Given the description of an element on the screen output the (x, y) to click on. 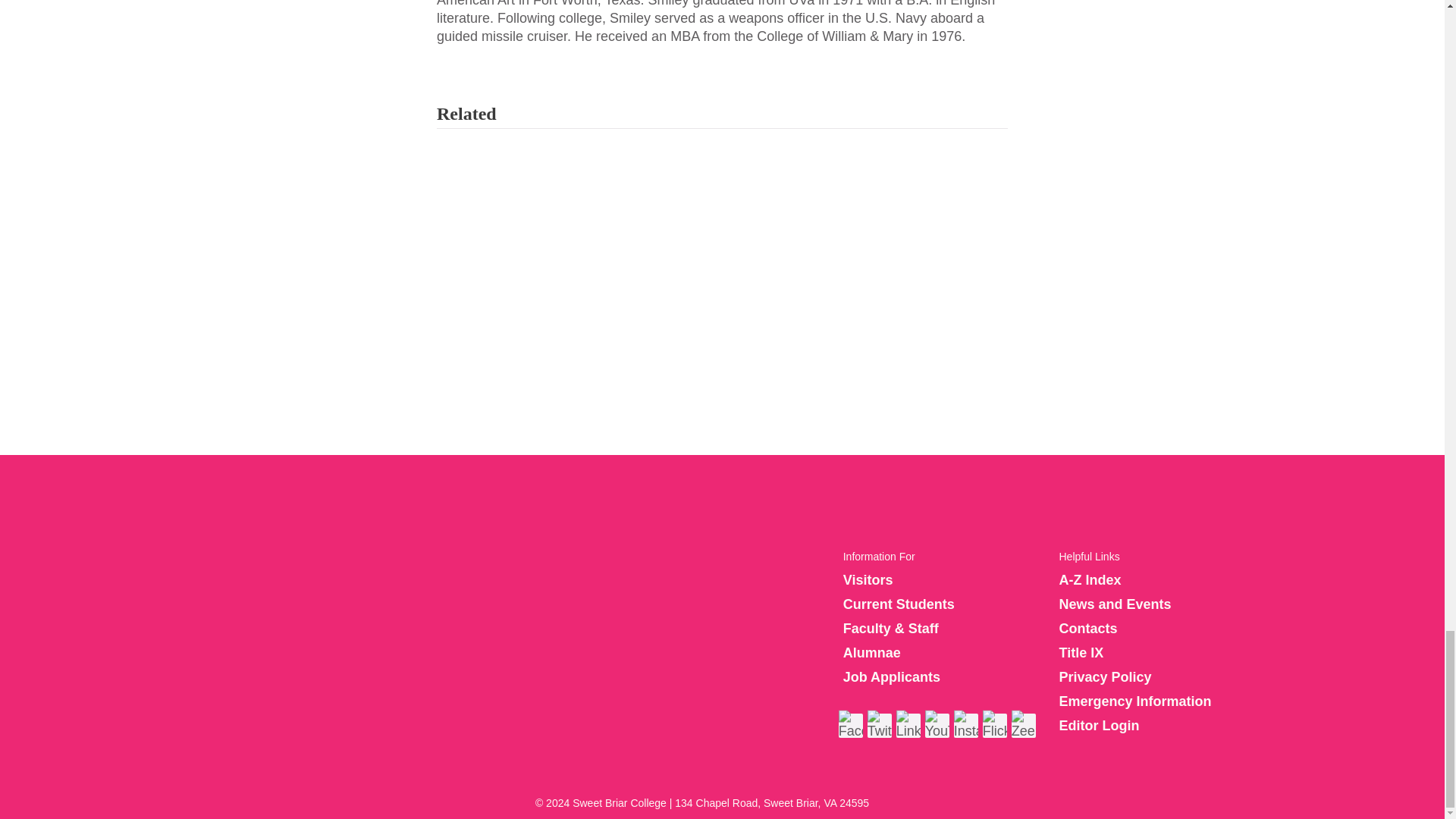
Current Students (899, 604)
Job Applicants (891, 676)
Visitors (868, 580)
Alumnae (872, 652)
A-Z Index (1089, 580)
